Given the description of an element on the screen output the (x, y) to click on. 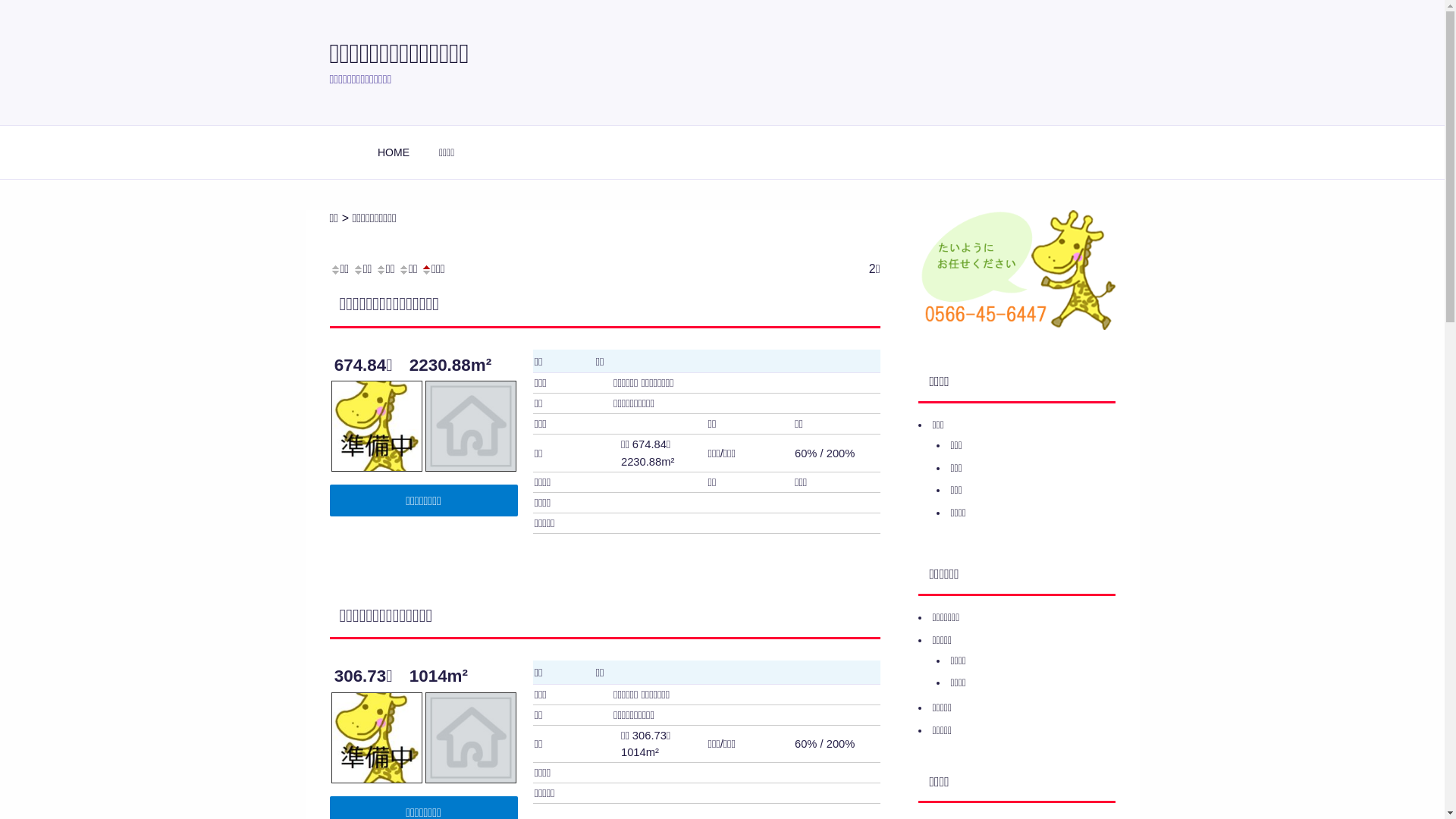
HOME Element type: text (393, 151)
